Given the description of an element on the screen output the (x, y) to click on. 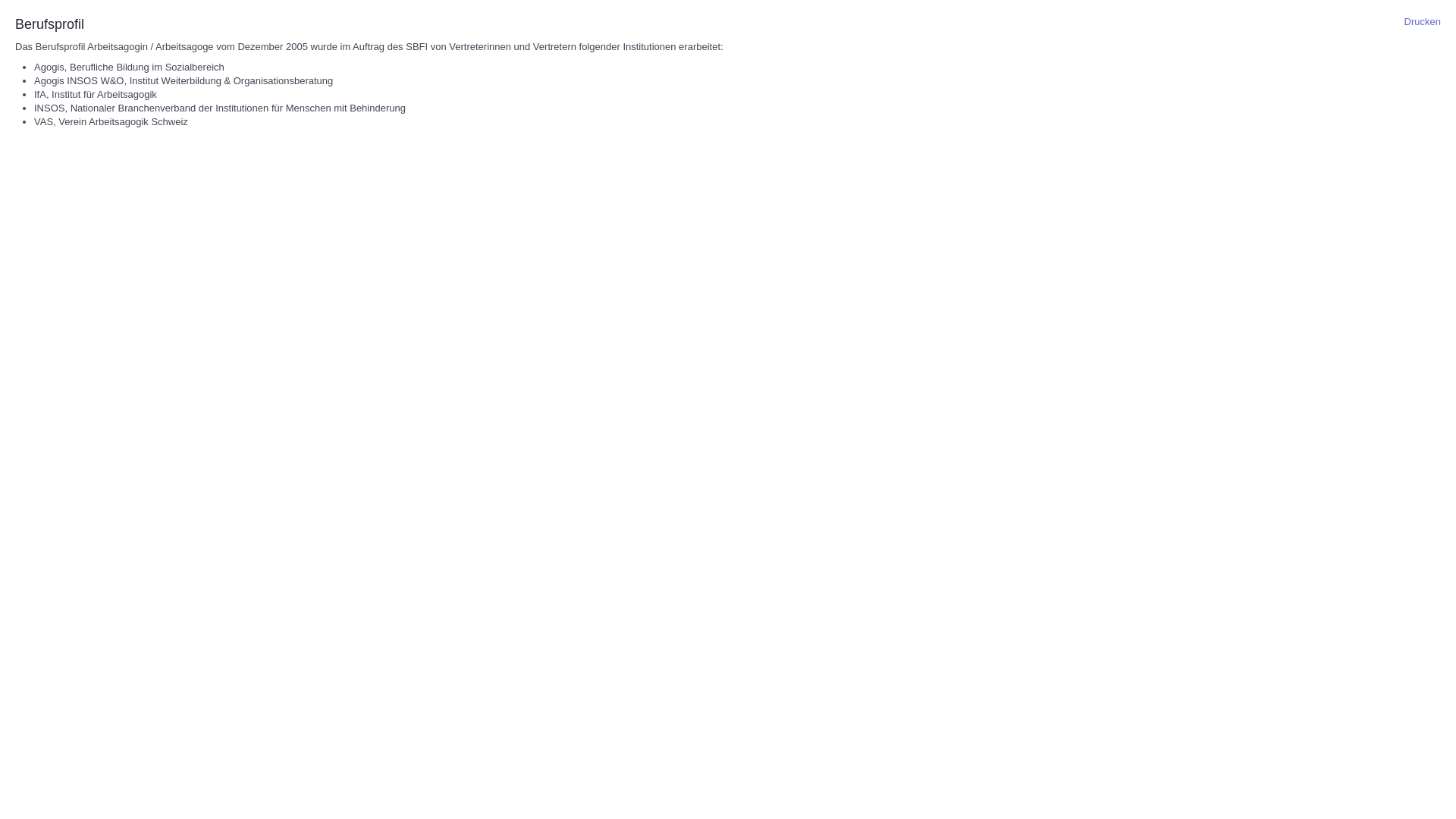
Drucken Element type: text (1422, 21)
